Given the description of an element on the screen output the (x, y) to click on. 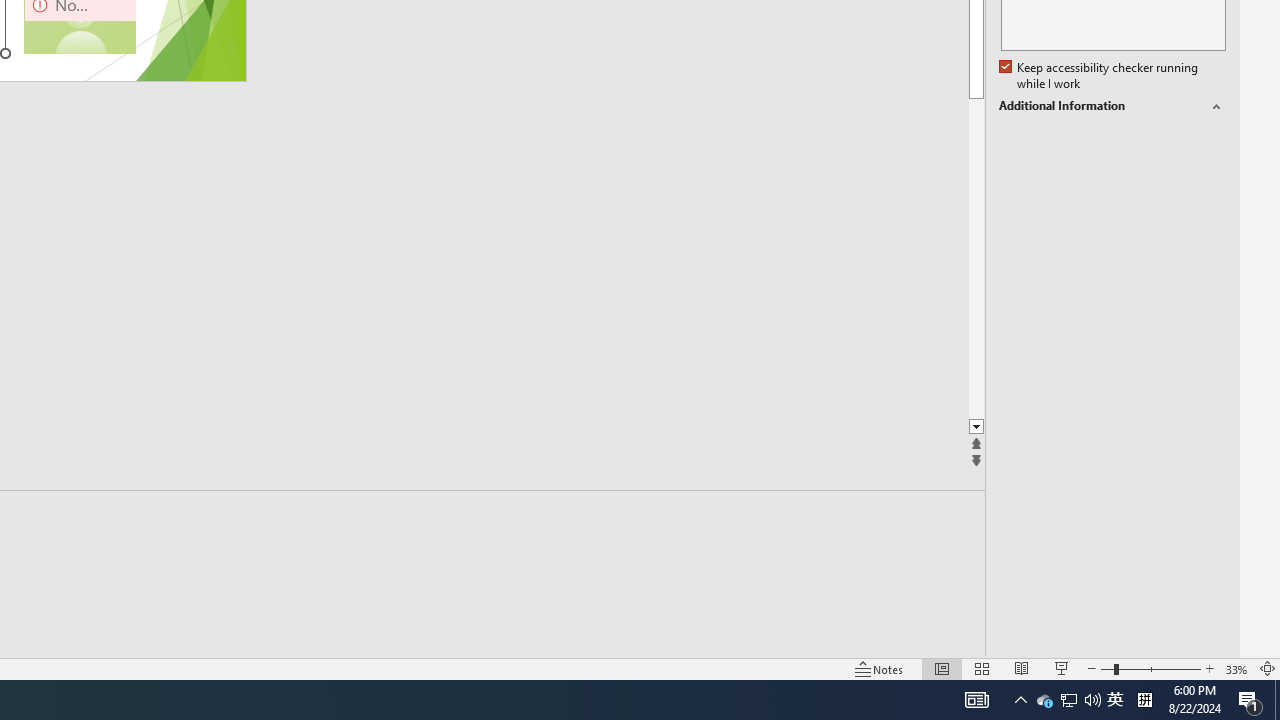
Zoom 33% (1236, 668)
